Given the description of an element on the screen output the (x, y) to click on. 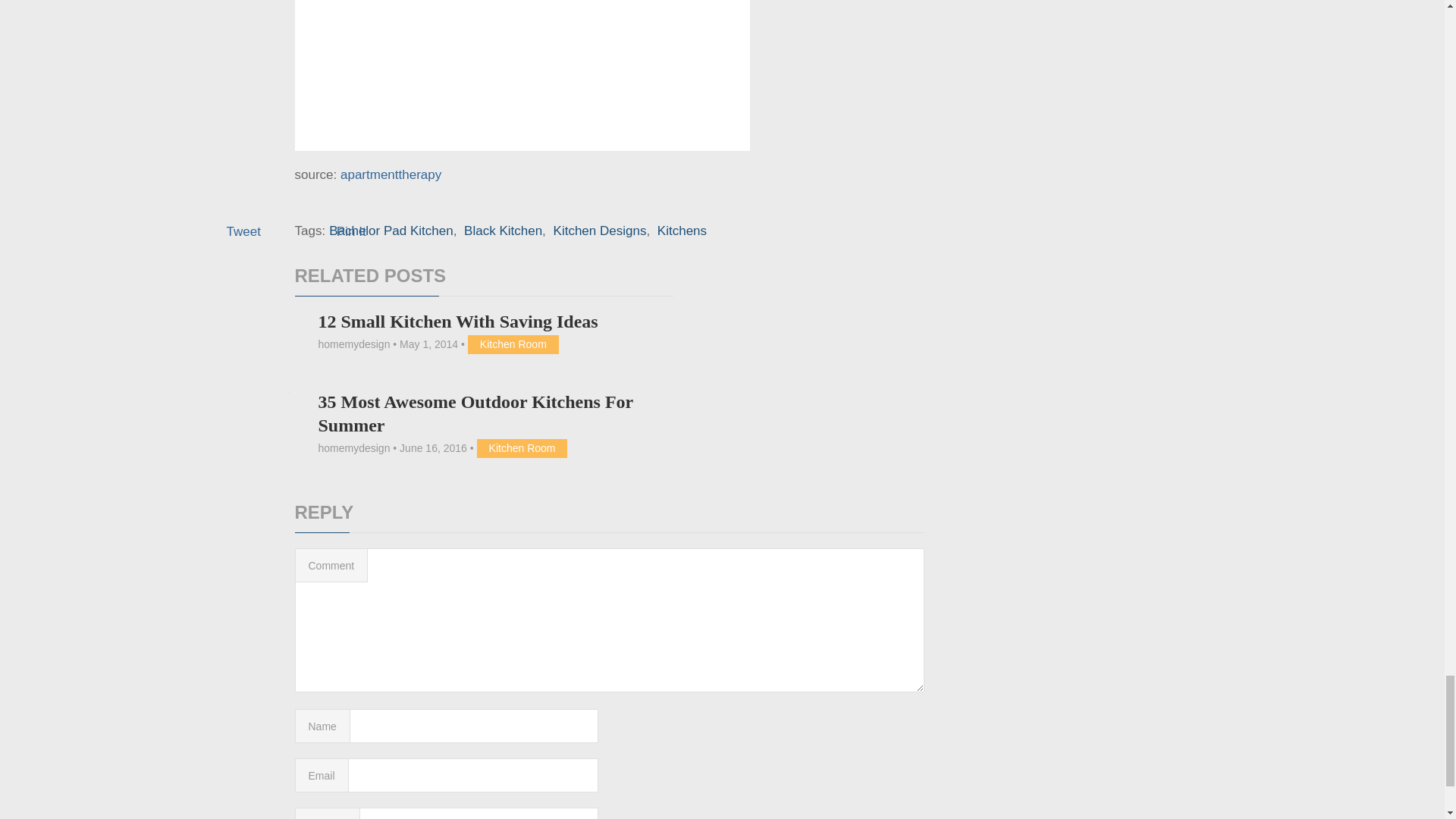
Posts by homemydesign (353, 344)
35 Most Awesome Outdoor Kitchens For Summer (474, 413)
Posts by homemydesign (353, 448)
View all posts in Kitchen Room (522, 448)
12 Small Kitchen With Saving Ideas (456, 321)
View all posts in Kitchen Room (513, 344)
